Given the description of an element on the screen output the (x, y) to click on. 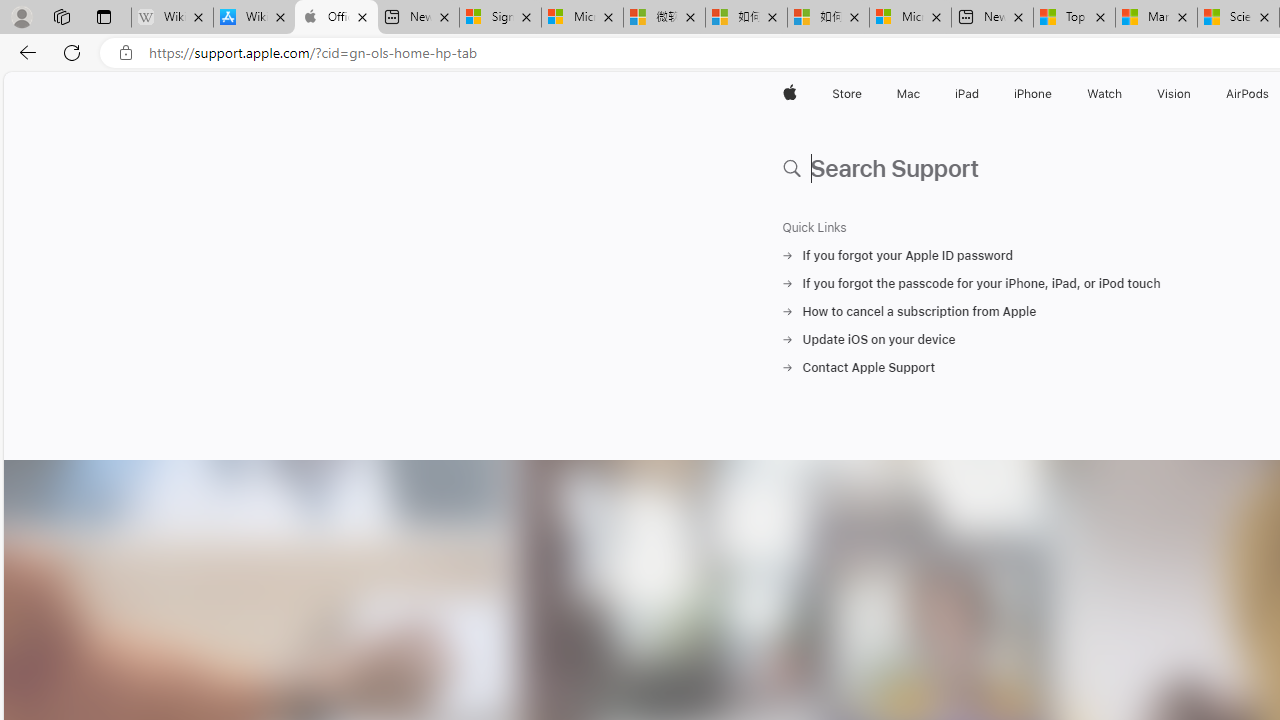
AirPods (1247, 93)
iPhone (1033, 93)
Apple (789, 93)
Apple (789, 93)
iPad (965, 93)
iPad menu (982, 93)
Mac (908, 93)
